Given the description of an element on the screen output the (x, y) to click on. 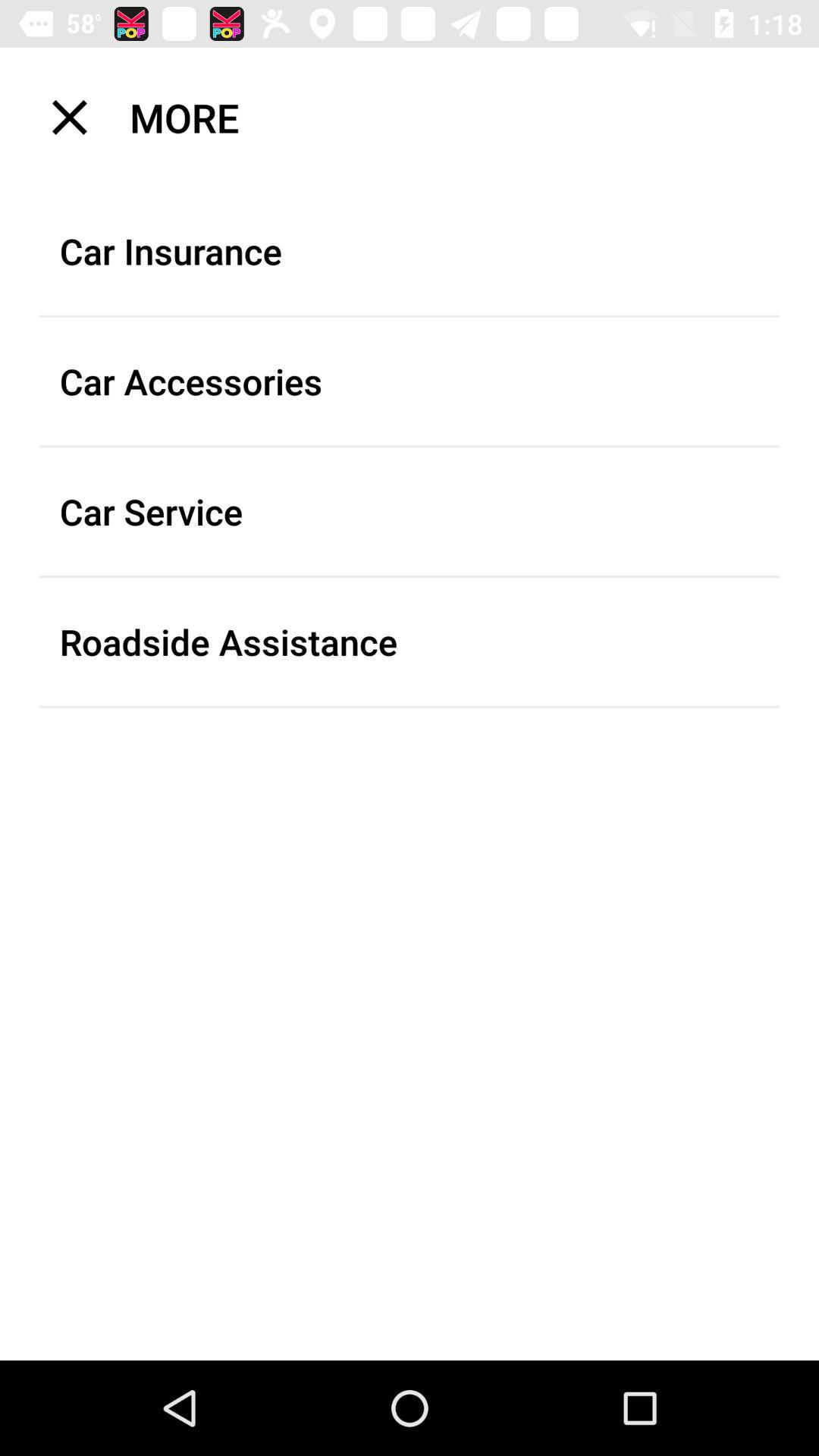
turn off the more (419, 117)
